Given the description of an element on the screen output the (x, y) to click on. 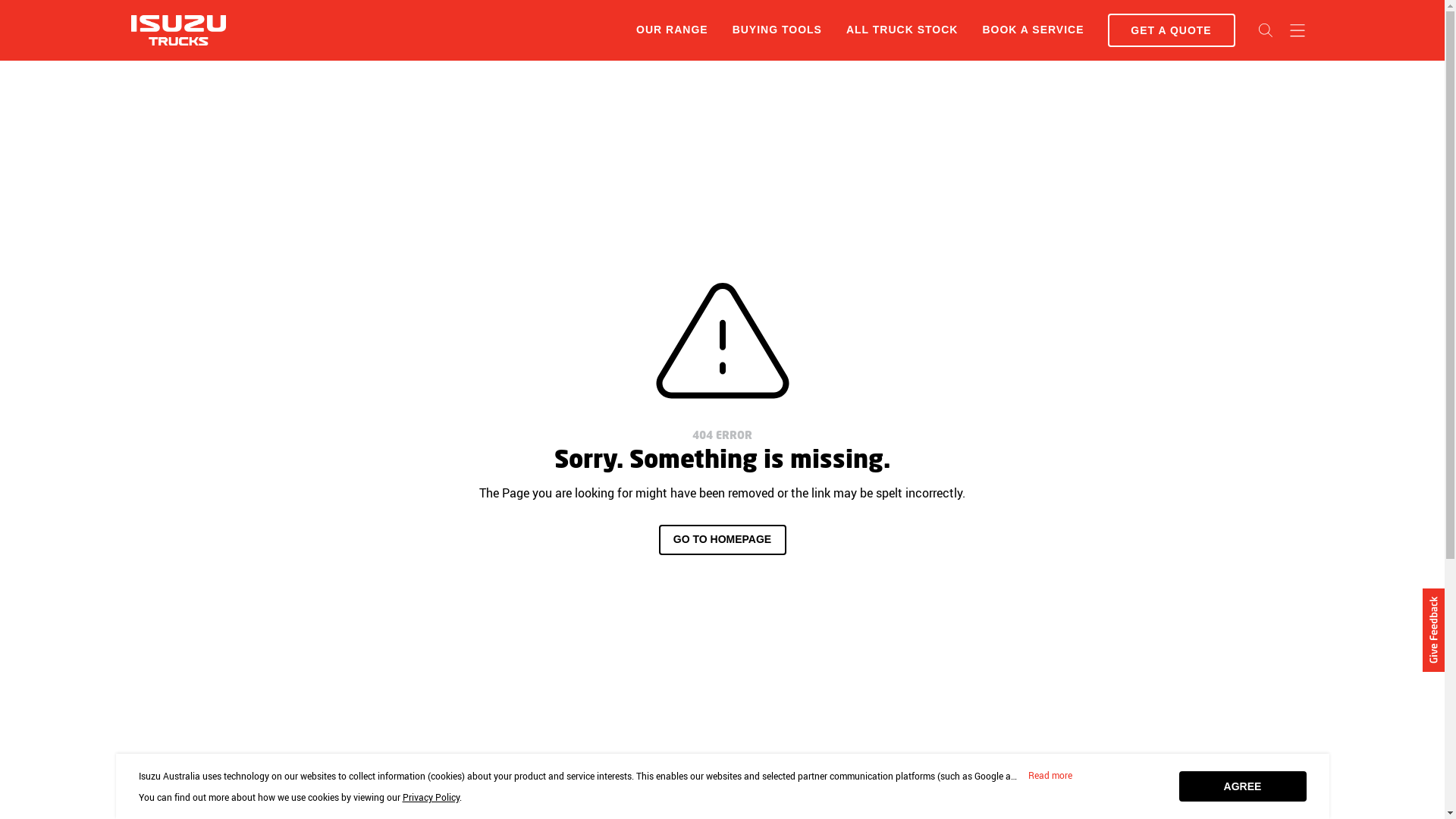
BUYING TOOLS Element type: text (777, 30)
BOOK A SERVICE Element type: text (1032, 30)
OUR RANGE Element type: text (672, 29)
GET A QUOTE Element type: text (1170, 30)
ALL TRUCK STOCK Element type: text (901, 30)
Privacy Policy Element type: text (429, 796)
Read more Element type: text (1049, 775)
AGREE Element type: text (1241, 786)
GO TO HOMEPAGE Element type: text (721, 539)
